Given the description of an element on the screen output the (x, y) to click on. 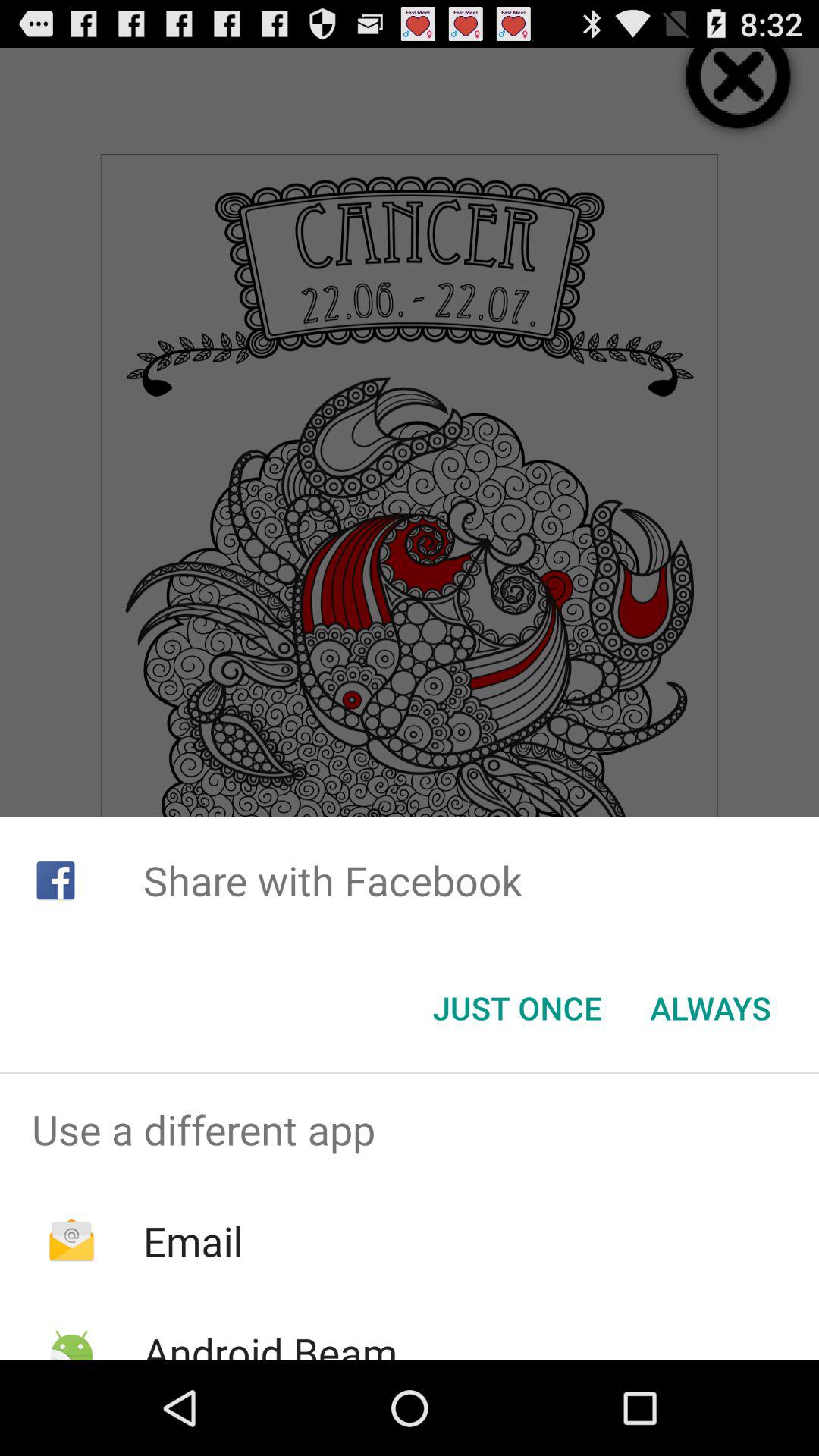
choose use a different icon (409, 1129)
